Given the description of an element on the screen output the (x, y) to click on. 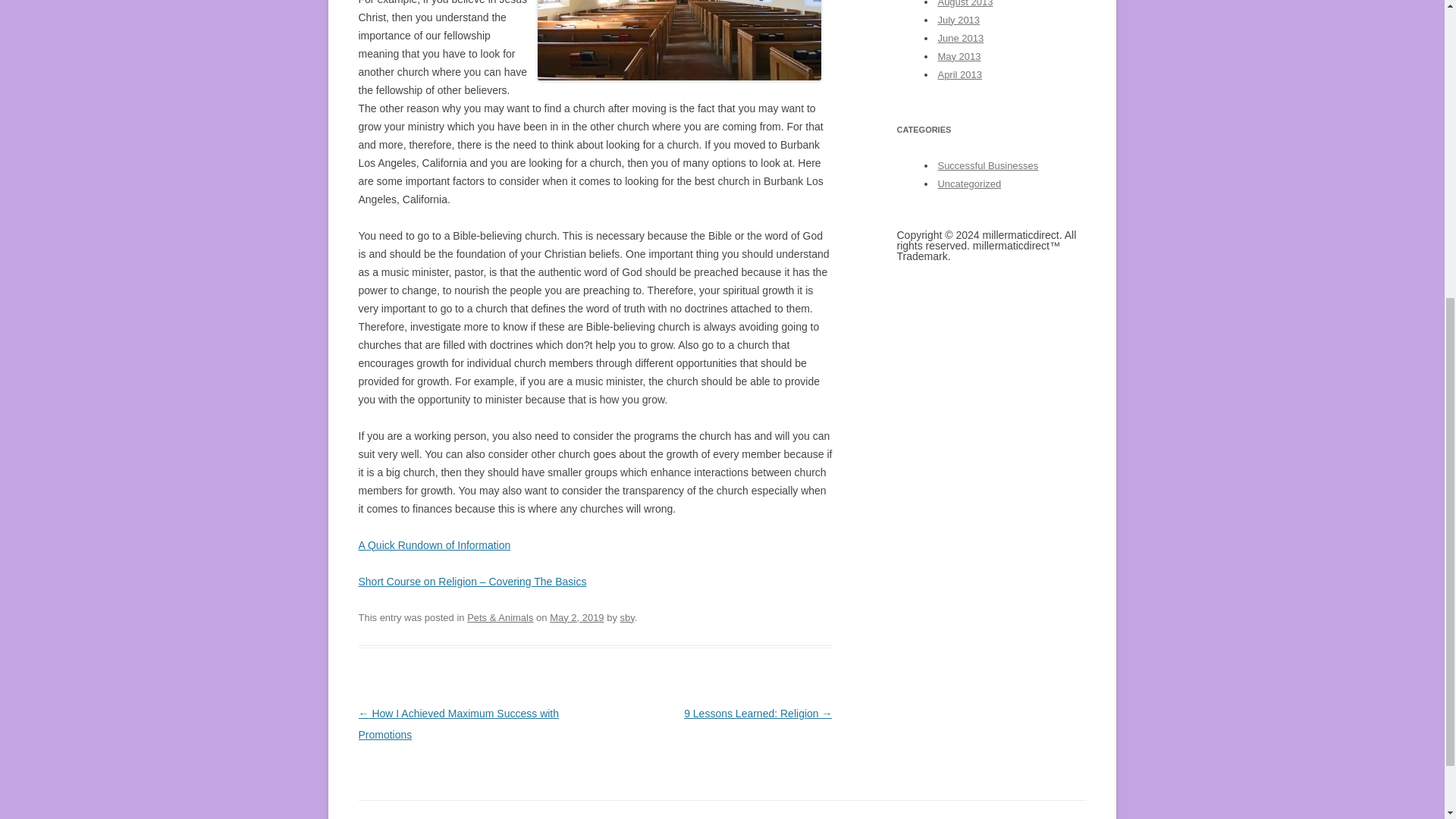
View all posts filed under Successful Businesses (987, 165)
June 2013 (960, 38)
May 2013 (958, 56)
July 2013 (958, 19)
April 2013 (959, 74)
July 2013 (958, 19)
A Quick Rundown of Information (434, 544)
Uncategorized (969, 183)
8:56 pm (577, 617)
June 2013 (960, 38)
